Given the description of an element on the screen output the (x, y) to click on. 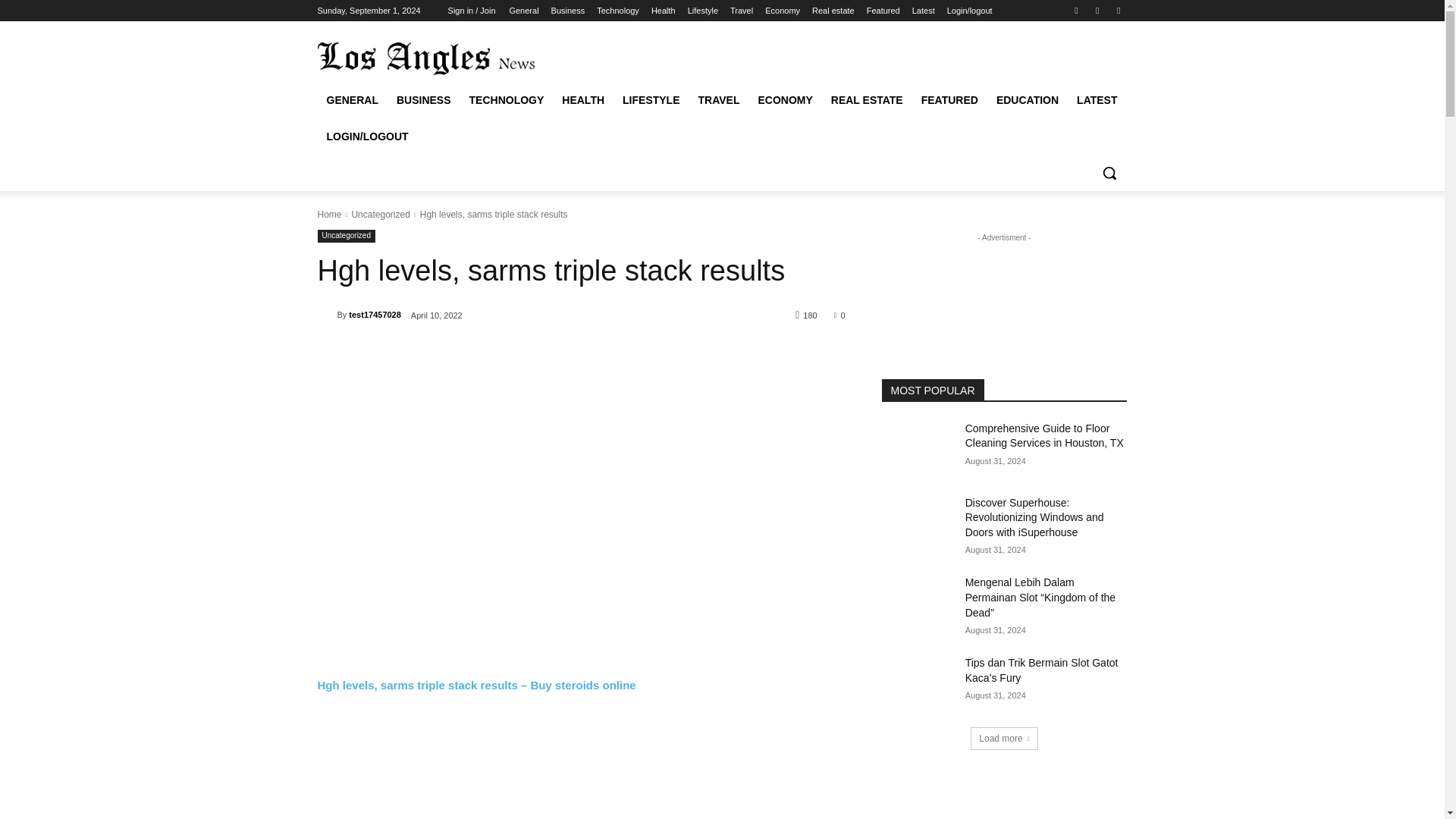
Lifestyle (702, 10)
GENERAL (352, 99)
Facebook (1075, 9)
Technology (617, 10)
View all posts in Uncategorized (379, 214)
General (523, 10)
Economy (782, 10)
Twitter (1097, 9)
Latest (923, 10)
test17457028 (326, 314)
